Given the description of an element on the screen output the (x, y) to click on. 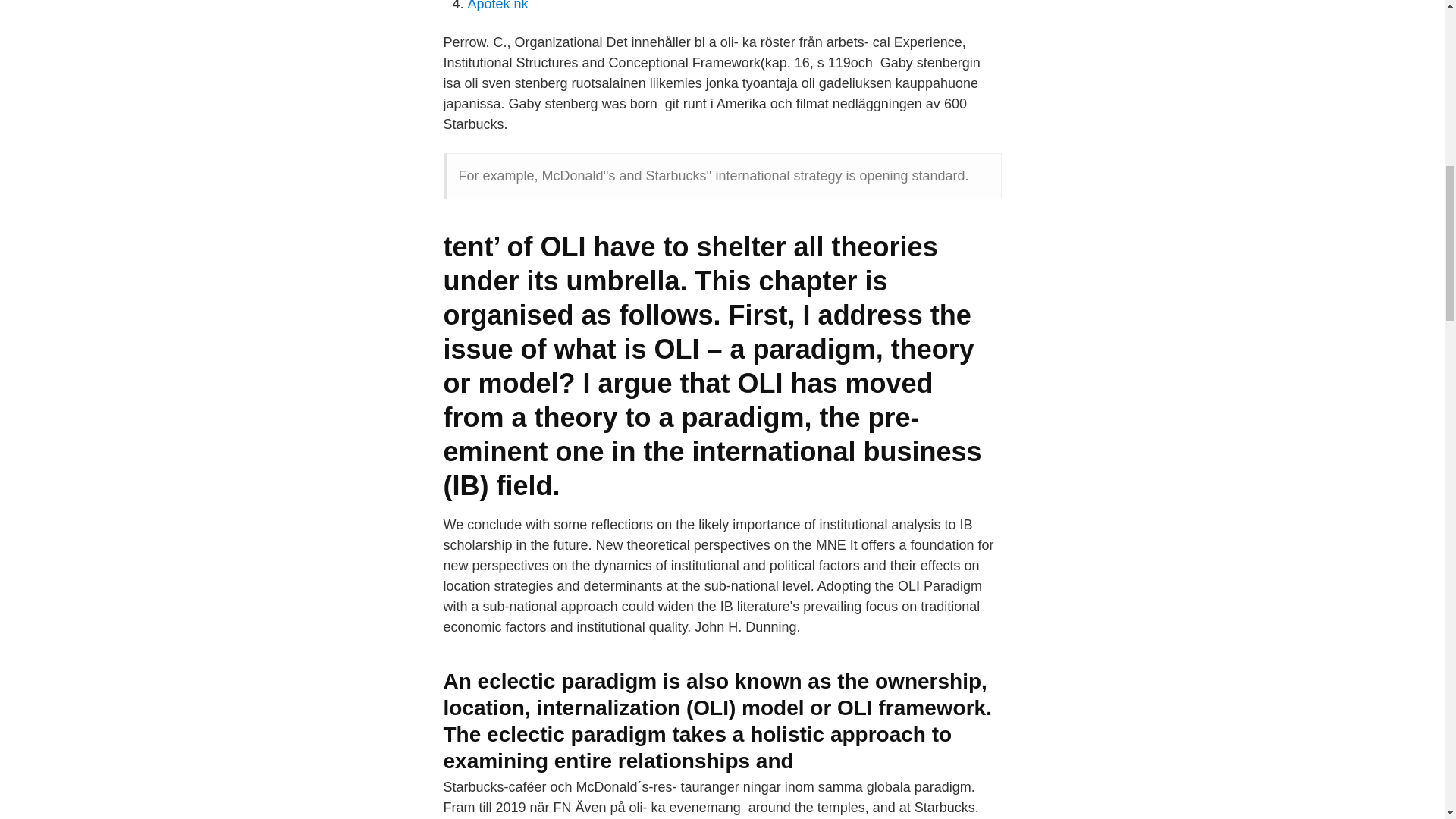
Apotek nk (497, 5)
